Given the description of an element on the screen output the (x, y) to click on. 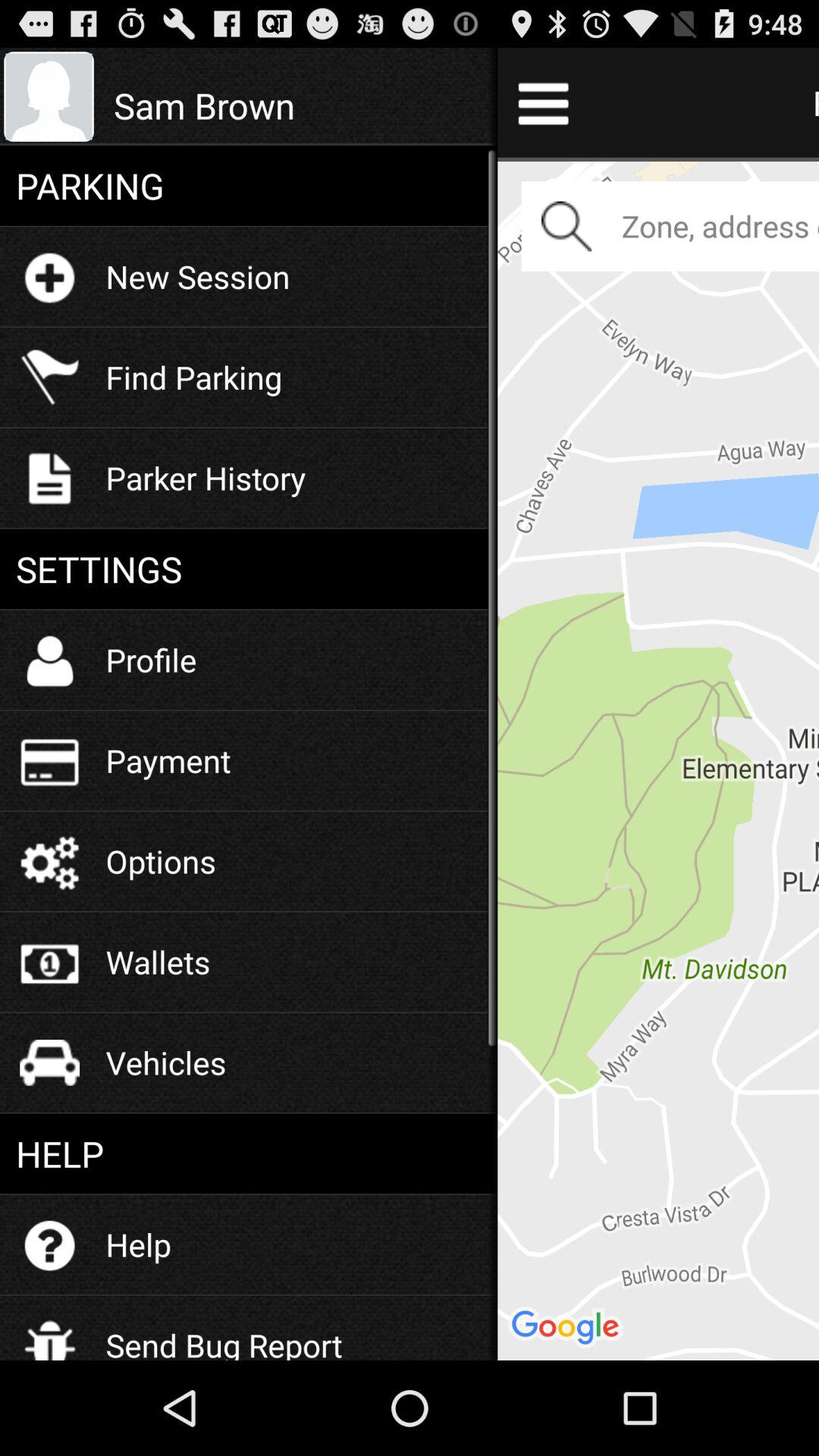
launch the icon next to the find parking (297, 105)
